Given the description of an element on the screen output the (x, y) to click on. 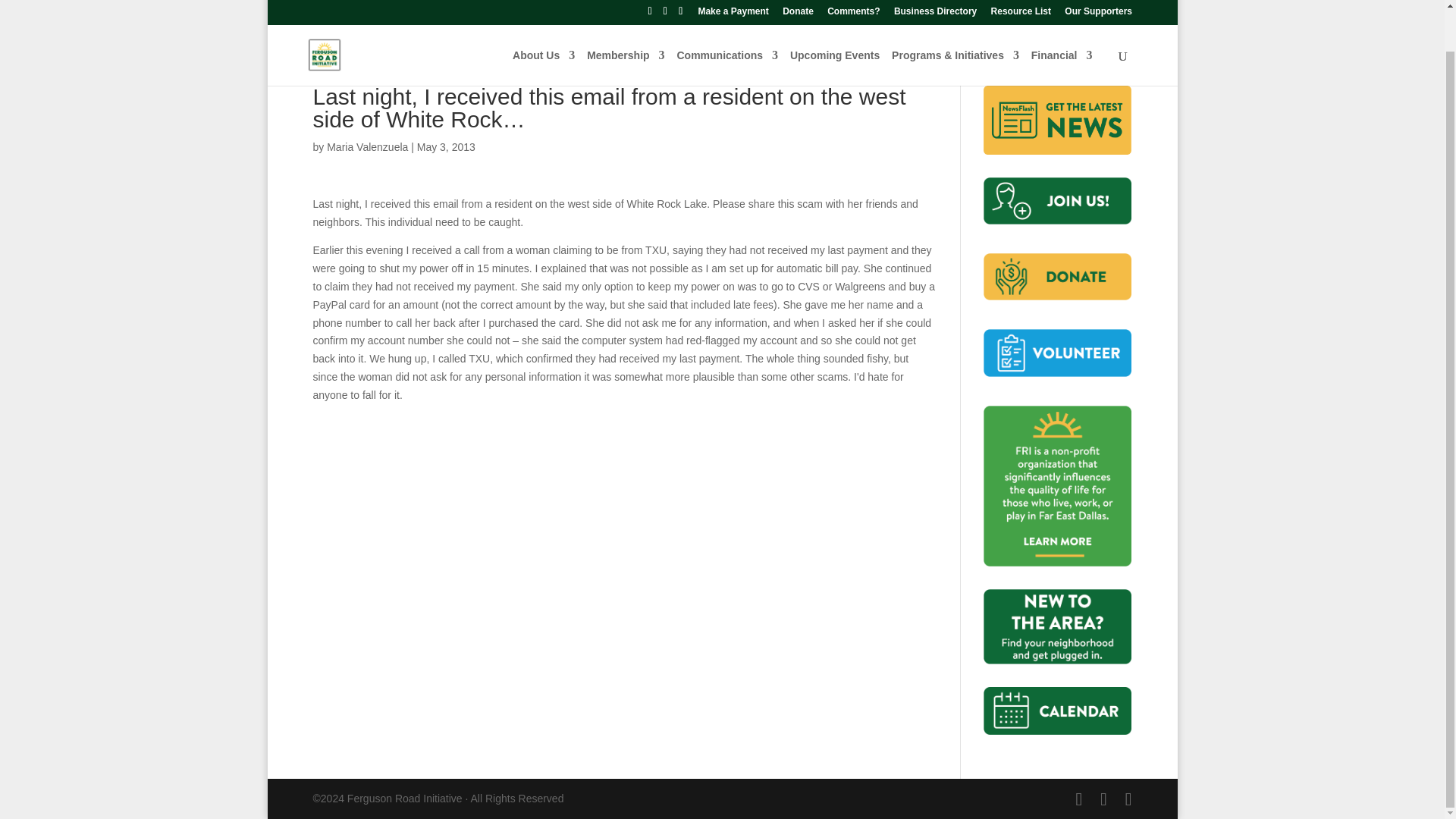
Upcoming Events (834, 24)
Membership (624, 24)
Posts by Maria Valenzuela (366, 146)
Communications (727, 24)
About Us (543, 24)
